Given the description of an element on the screen output the (x, y) to click on. 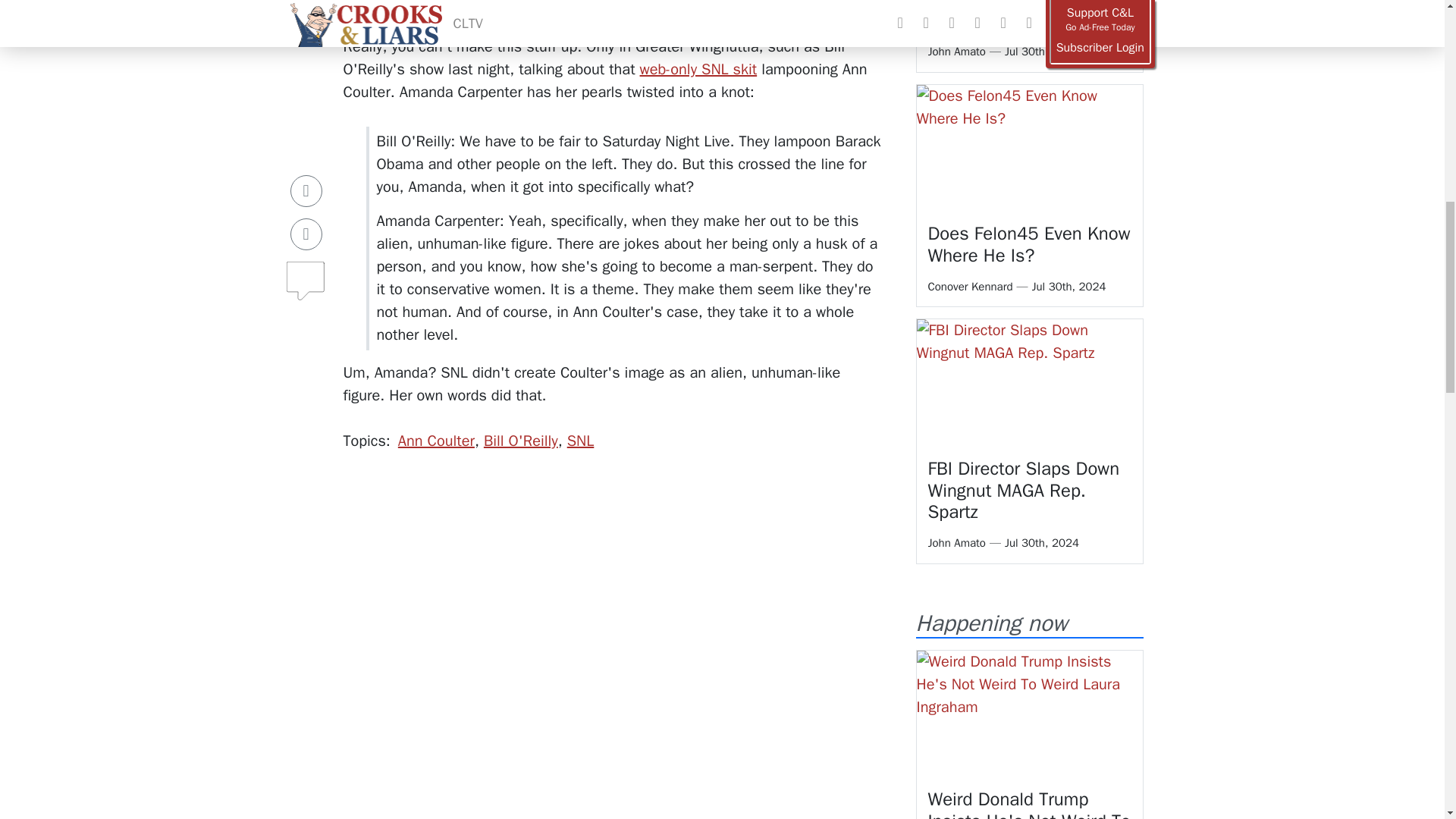
web-only SNL skit (698, 68)
Bill O'Reilly (520, 440)
Ann Coulter (435, 440)
Quicktime (410, 5)
WMV (358, 5)
SNL (580, 440)
Insticator Content Engagement Unit (415, 756)
